Given the description of an element on the screen output the (x, y) to click on. 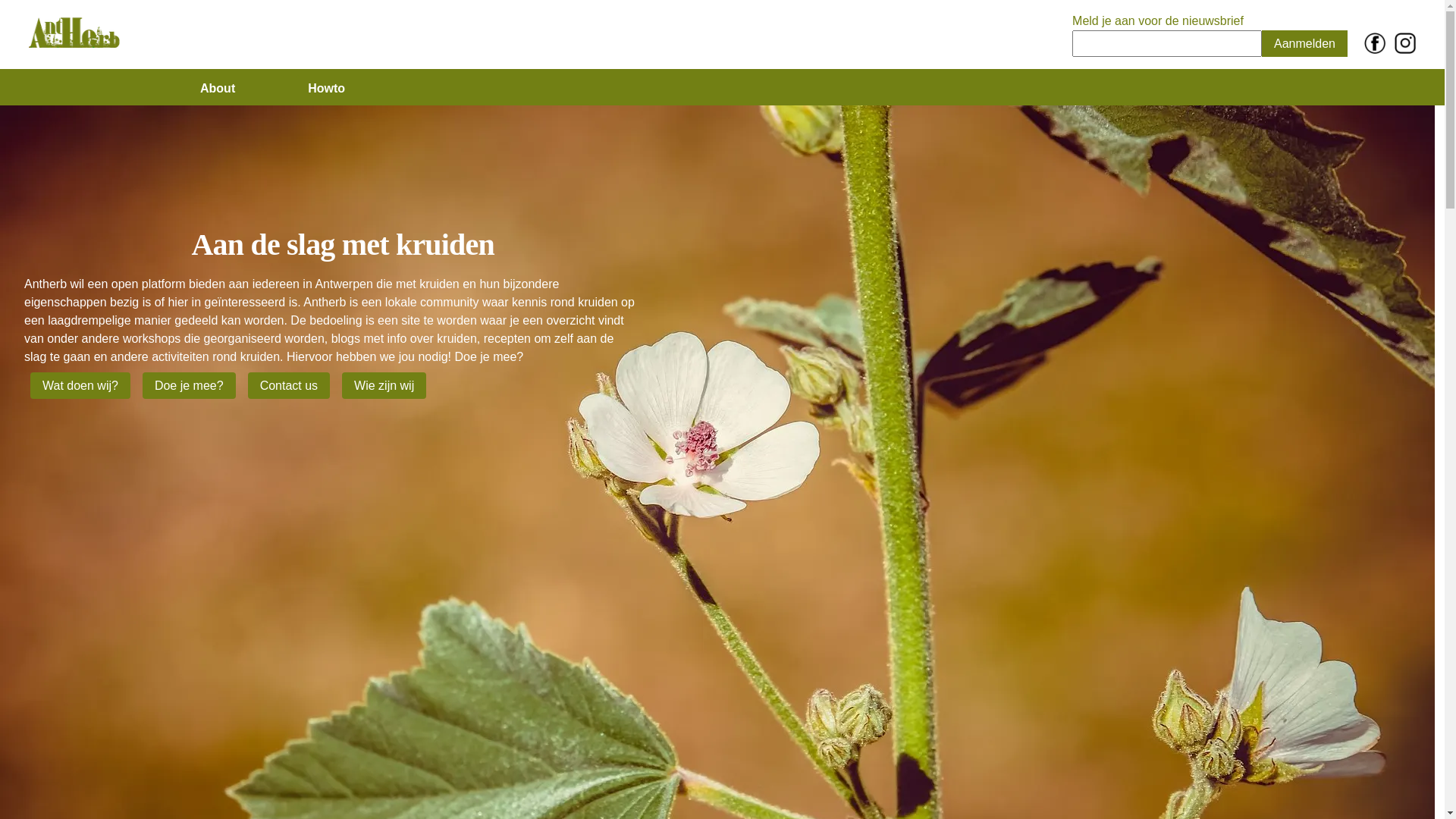
Doe je mee? Element type: text (188, 385)
Wie zijn wij Element type: text (384, 385)
Howto Element type: text (344, 88)
About Element type: text (235, 88)
Aanmelden Element type: text (1304, 43)
Contact us Element type: text (288, 385)
About Element type: text (217, 88)
Wie zijn wij Element type: text (384, 385)
Doe je mee? Element type: text (188, 385)
Wat doen wij? Element type: text (80, 385)
Contact us Element type: text (288, 385)
Howto Element type: text (326, 88)
Wat doen wij? Element type: text (80, 385)
